Given the description of an element on the screen output the (x, y) to click on. 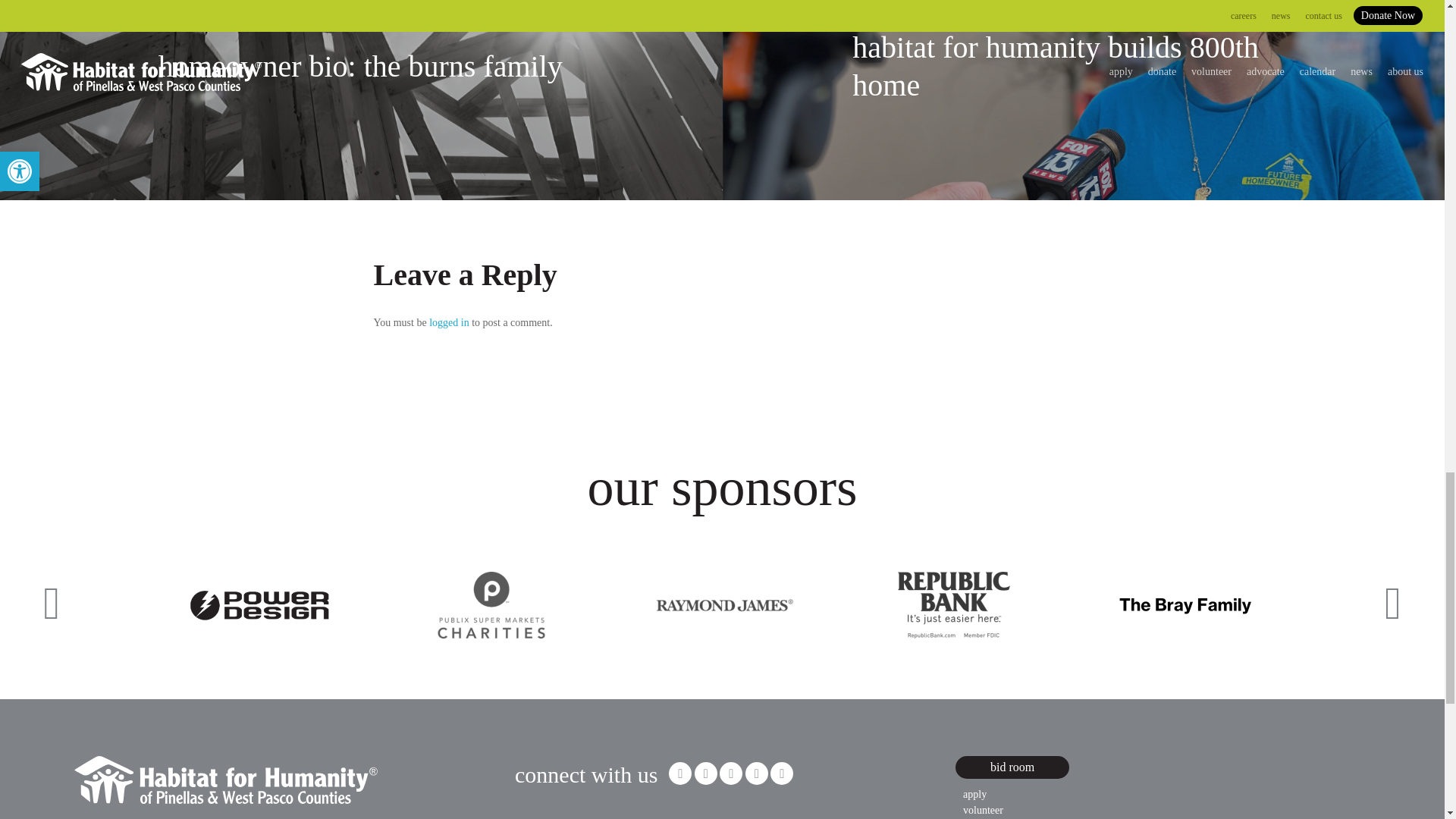
Form 0 (628, 814)
